Given the description of an element on the screen output the (x, y) to click on. 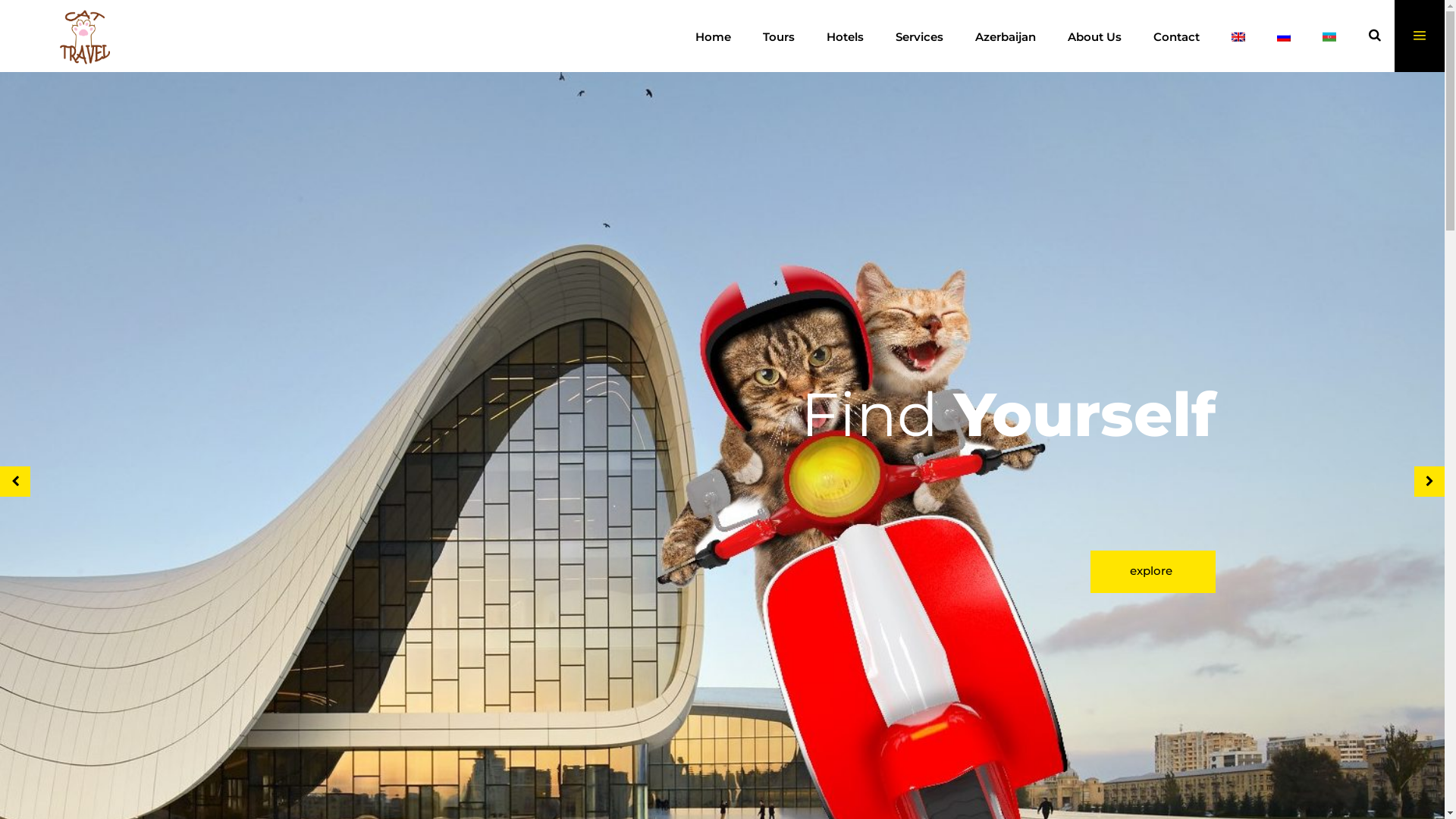
Contact Element type: text (1176, 36)
Azerbaijan Element type: text (1005, 36)
About Us Element type: text (1094, 36)
English Element type: hover (1238, 35)
Hotels Element type: text (844, 36)
explore Element type: text (1152, 571)
Tours Element type: text (778, 36)
Home Element type: text (712, 36)
Services Element type: text (919, 36)
